Given the description of an element on the screen output the (x, y) to click on. 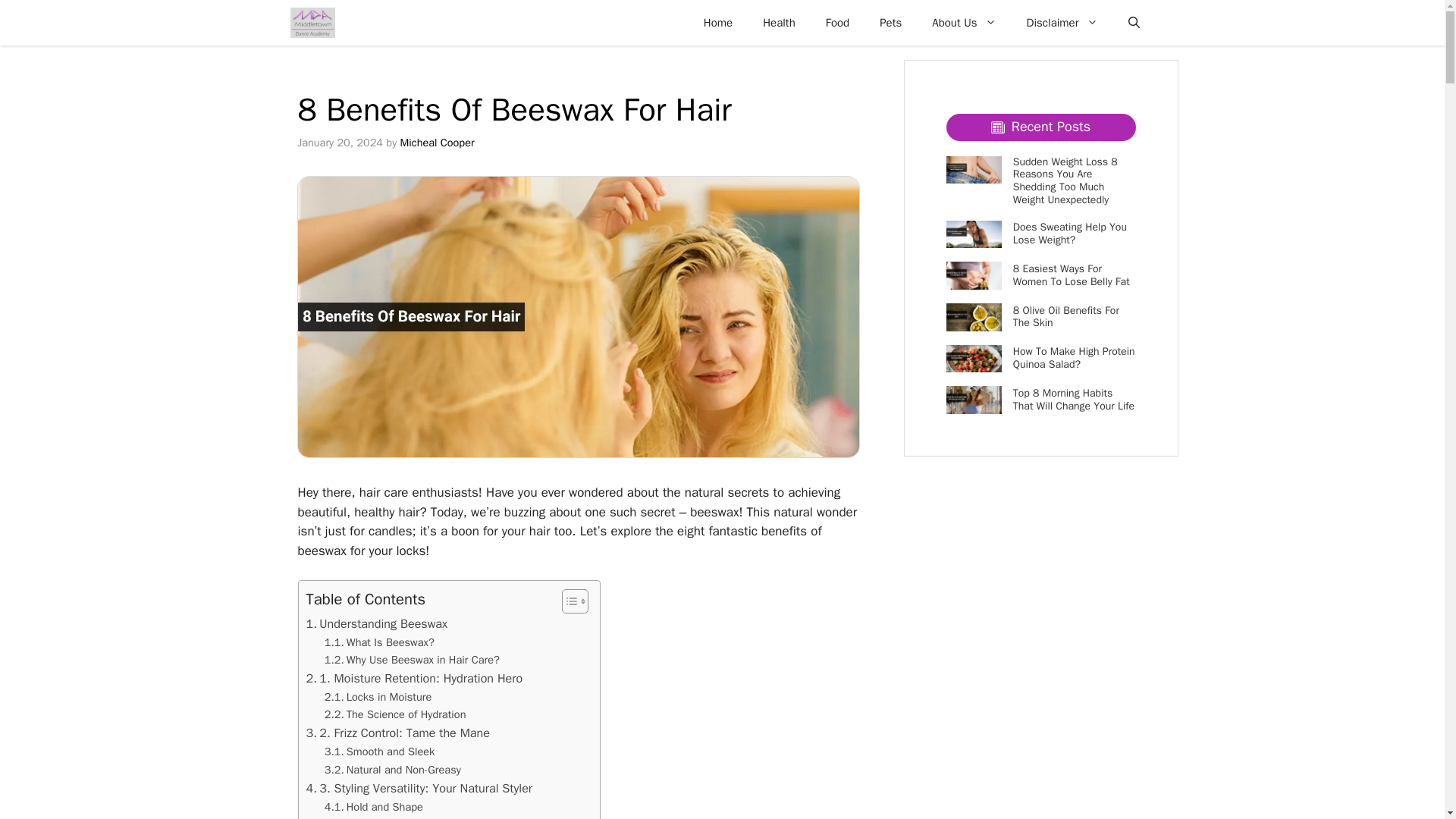
MiddleTown Dance Academy (311, 22)
View all posts by Micheal Cooper (437, 142)
Locks in Moisture (378, 696)
Disclaimer (1062, 22)
The Science of Hydration (394, 714)
Understanding Beeswax (376, 623)
1. Moisture Retention: Hydration Hero (413, 678)
Understanding Beeswax (376, 623)
Pets (890, 22)
Why Use Beeswax in Hair Care? (411, 660)
Food (837, 22)
2. Frizz Control: Tame the Mane (397, 732)
Locks in Moisture (378, 696)
Why Use Beeswax in Hair Care? (411, 660)
2. Frizz Control: Tame the Mane (397, 732)
